Given the description of an element on the screen output the (x, y) to click on. 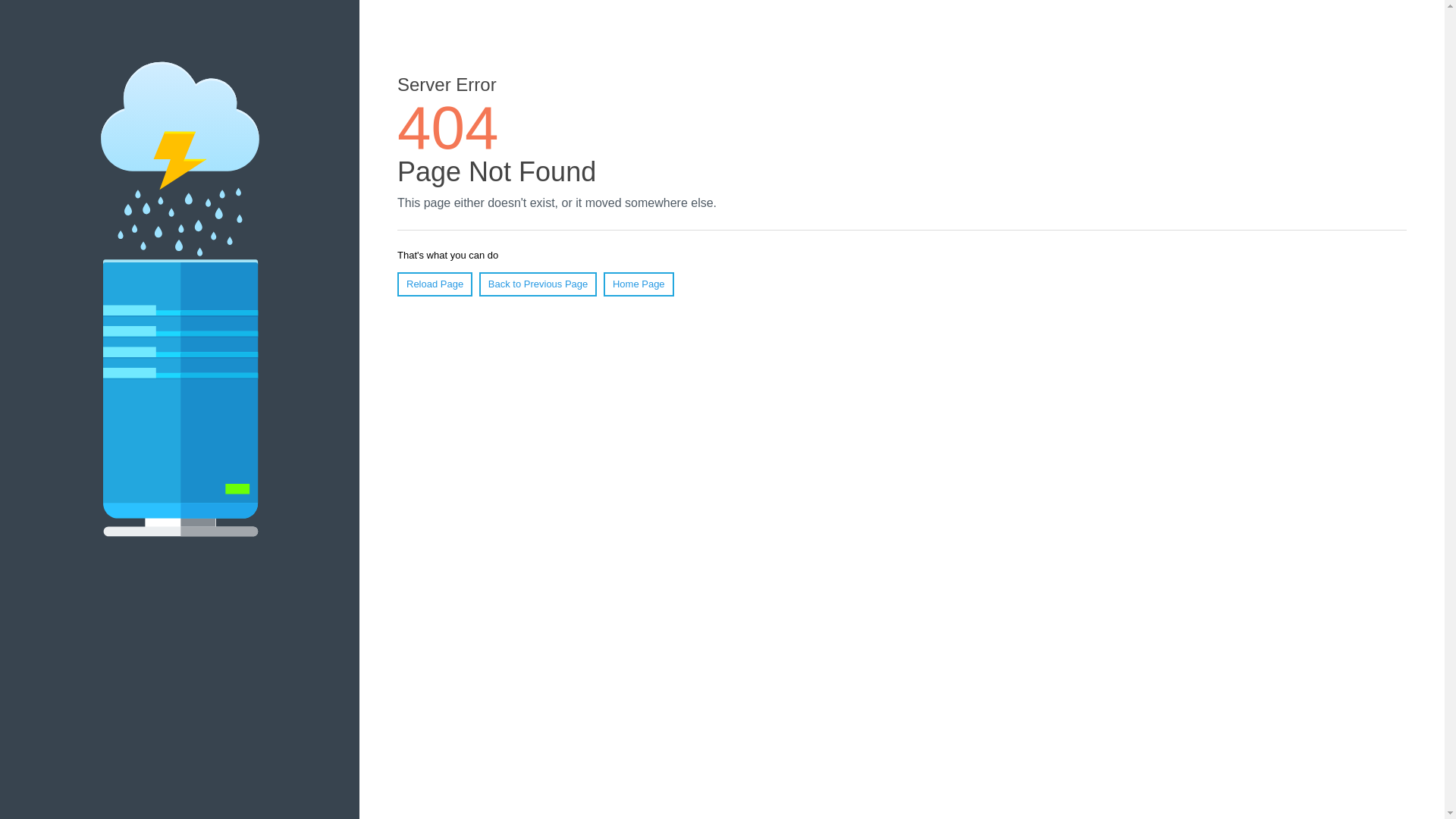
Back to Previous Page Element type: text (538, 284)
Reload Page Element type: text (434, 284)
Home Page Element type: text (638, 284)
